Given the description of an element on the screen output the (x, y) to click on. 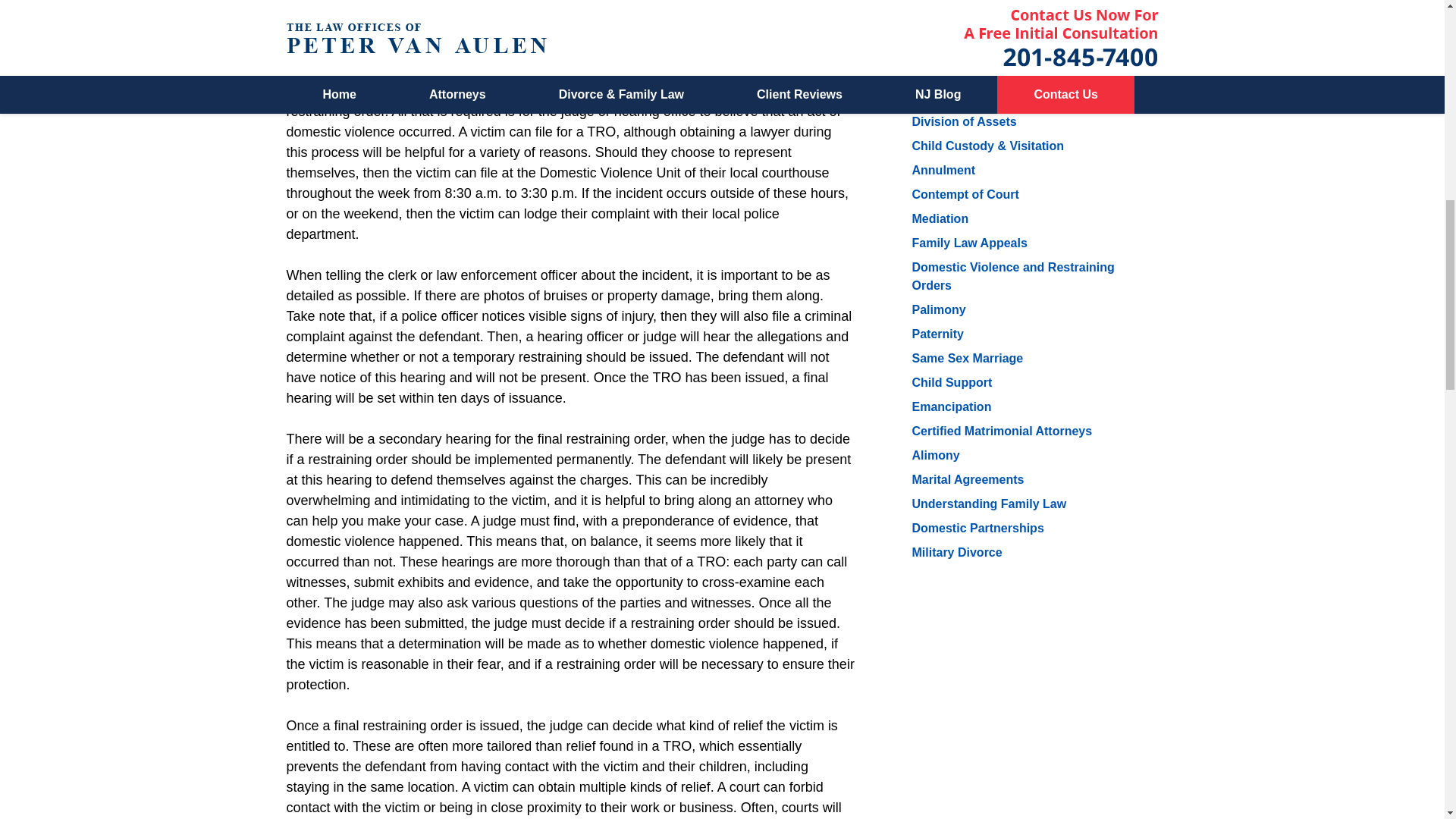
Emancipation (951, 406)
Annulment (943, 169)
Same Sex Marriage (967, 358)
Division of Assets (963, 121)
Certified Matrimonial Attorneys (1001, 431)
Domestic Partnerships (977, 527)
Paternity (936, 333)
Palimony (938, 309)
Child Support (951, 382)
Mediation (939, 218)
